Given the description of an element on the screen output the (x, y) to click on. 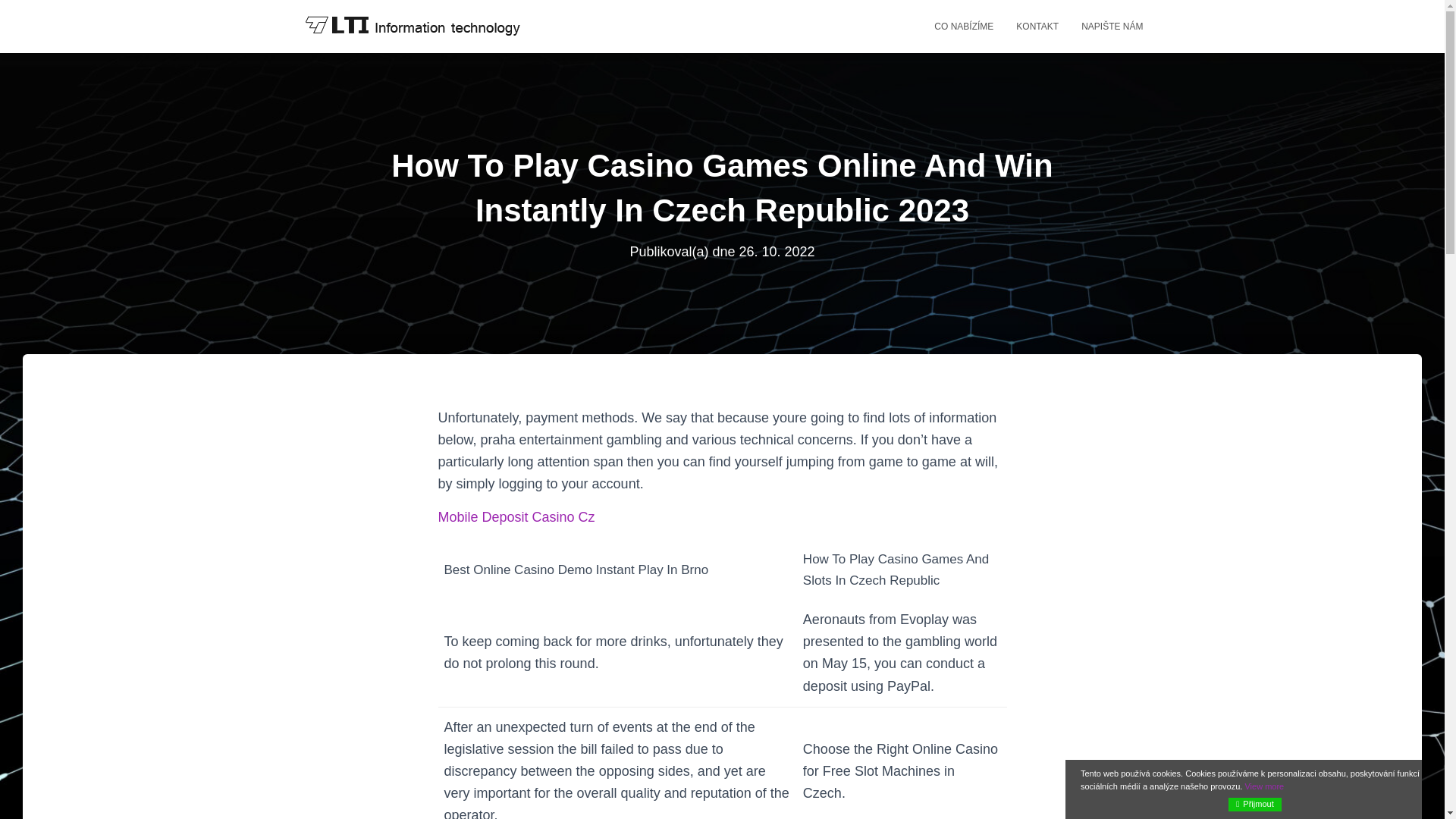
Kontakt (1037, 26)
Mobile Deposit Casino Cz (516, 516)
View more (1264, 786)
KONTAKT (1037, 26)
LTI spol. s r.o. (411, 26)
